Given the description of an element on the screen output the (x, y) to click on. 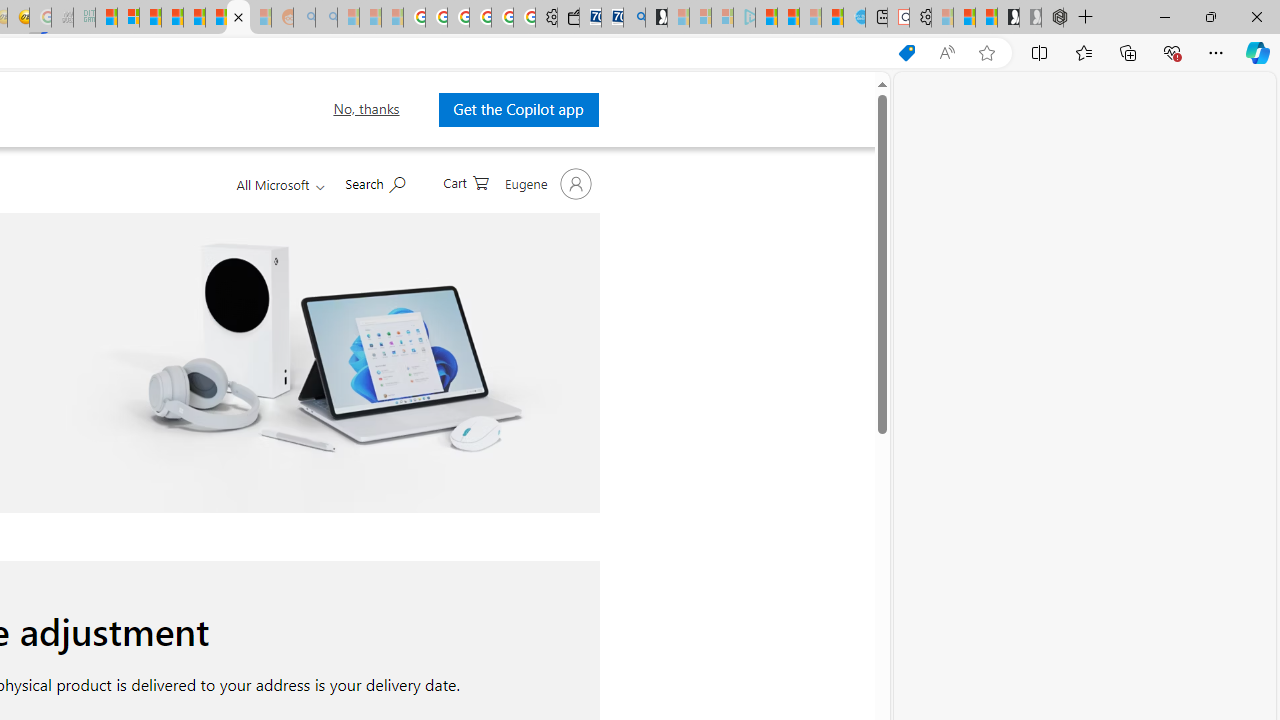
Microsoft account | Privacy - Sleeping (722, 17)
